Given the description of an element on the screen output the (x, y) to click on. 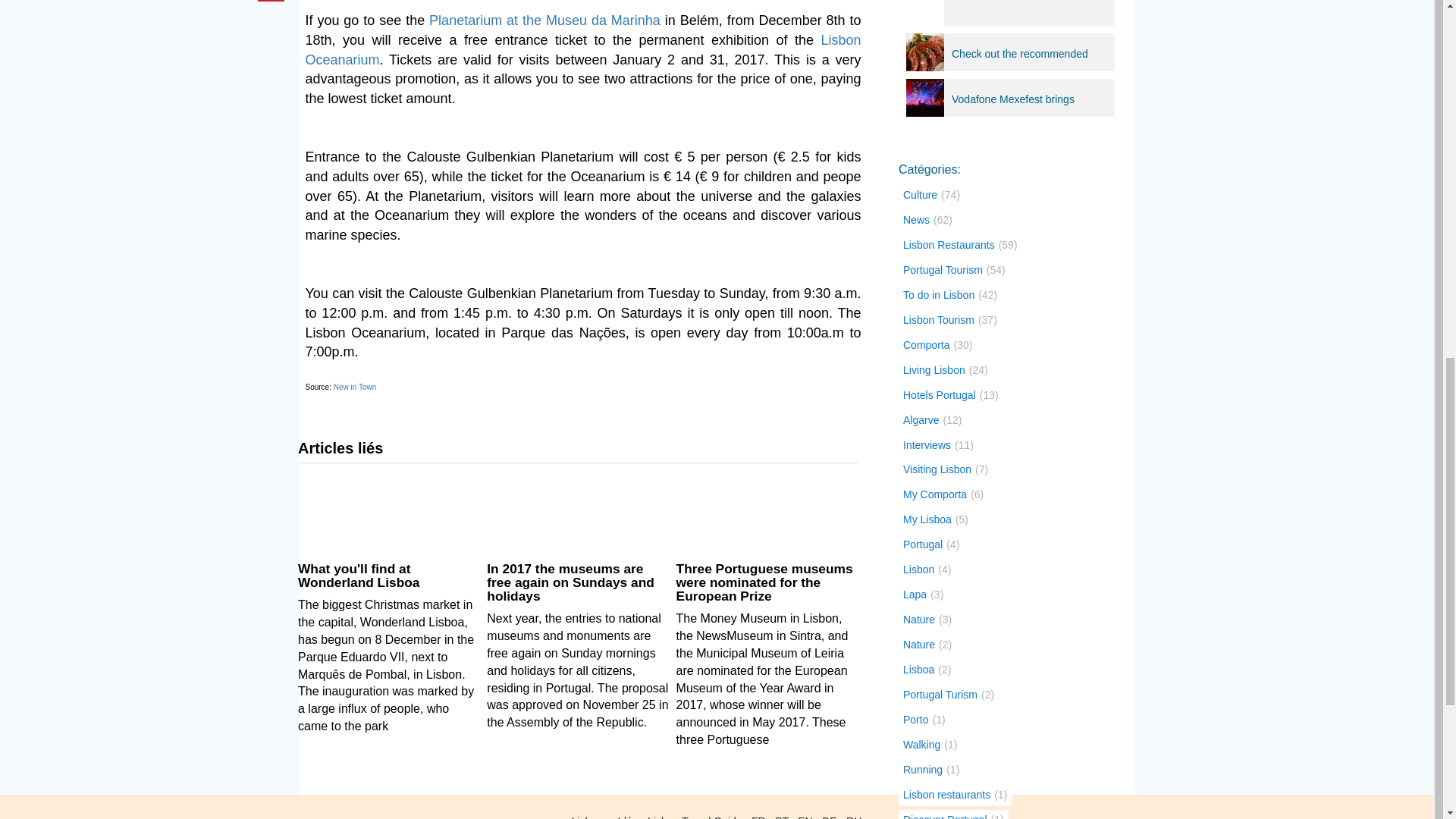
Vodafone Mexefest brings music back to Avenida da Liberdade (1011, 97)
Lisbon Oceanarium (582, 49)
Planetarium at the Museu da Marinha (545, 20)
New in Town (355, 387)
Vodafone Mexefest brings music back to Avenida da Liberdade (1011, 99)
